Given the description of an element on the screen output the (x, y) to click on. 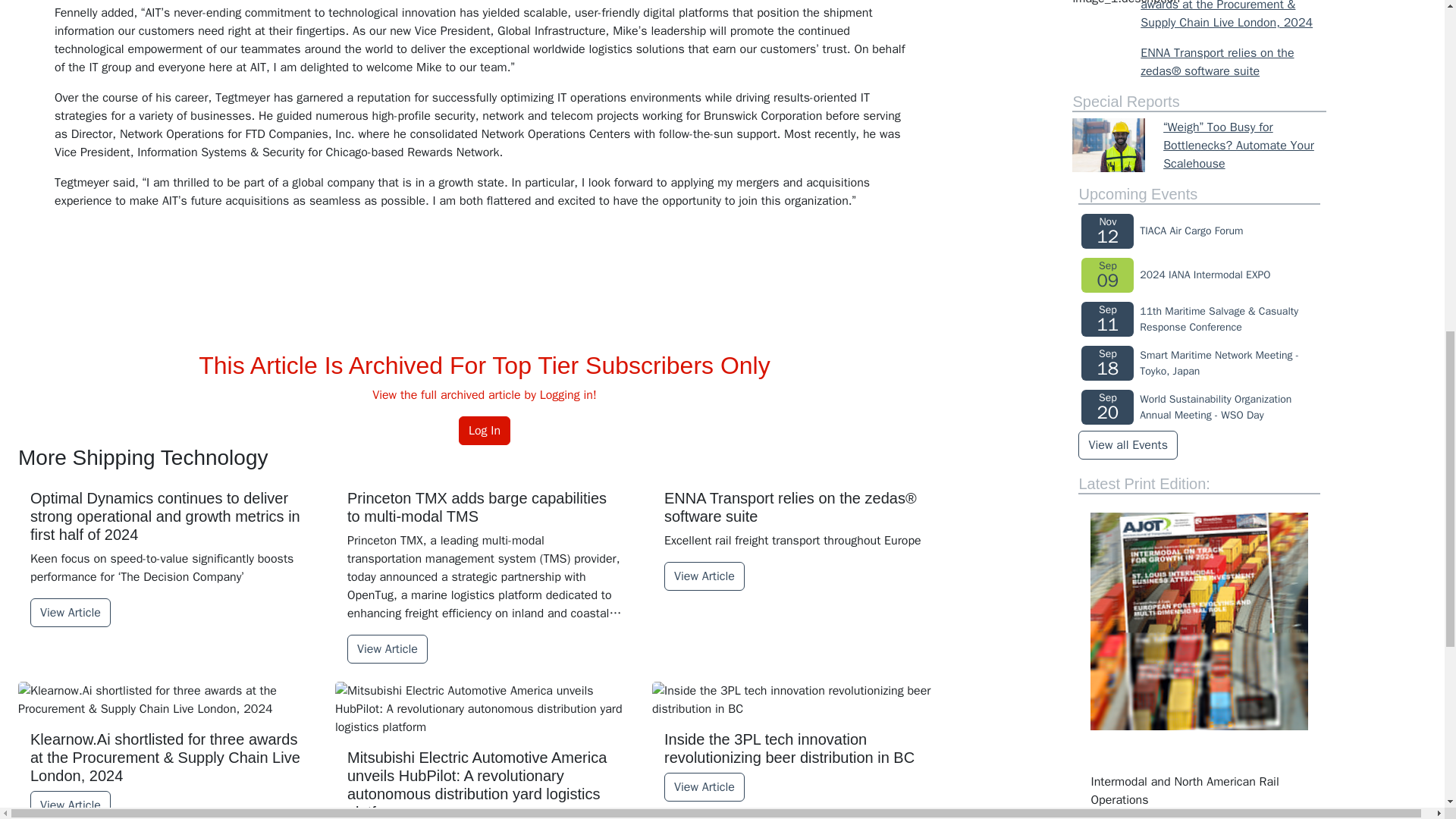
View Article (70, 612)
View Article (387, 648)
View Article (70, 805)
Log In (484, 430)
View Article (703, 575)
